Given the description of an element on the screen output the (x, y) to click on. 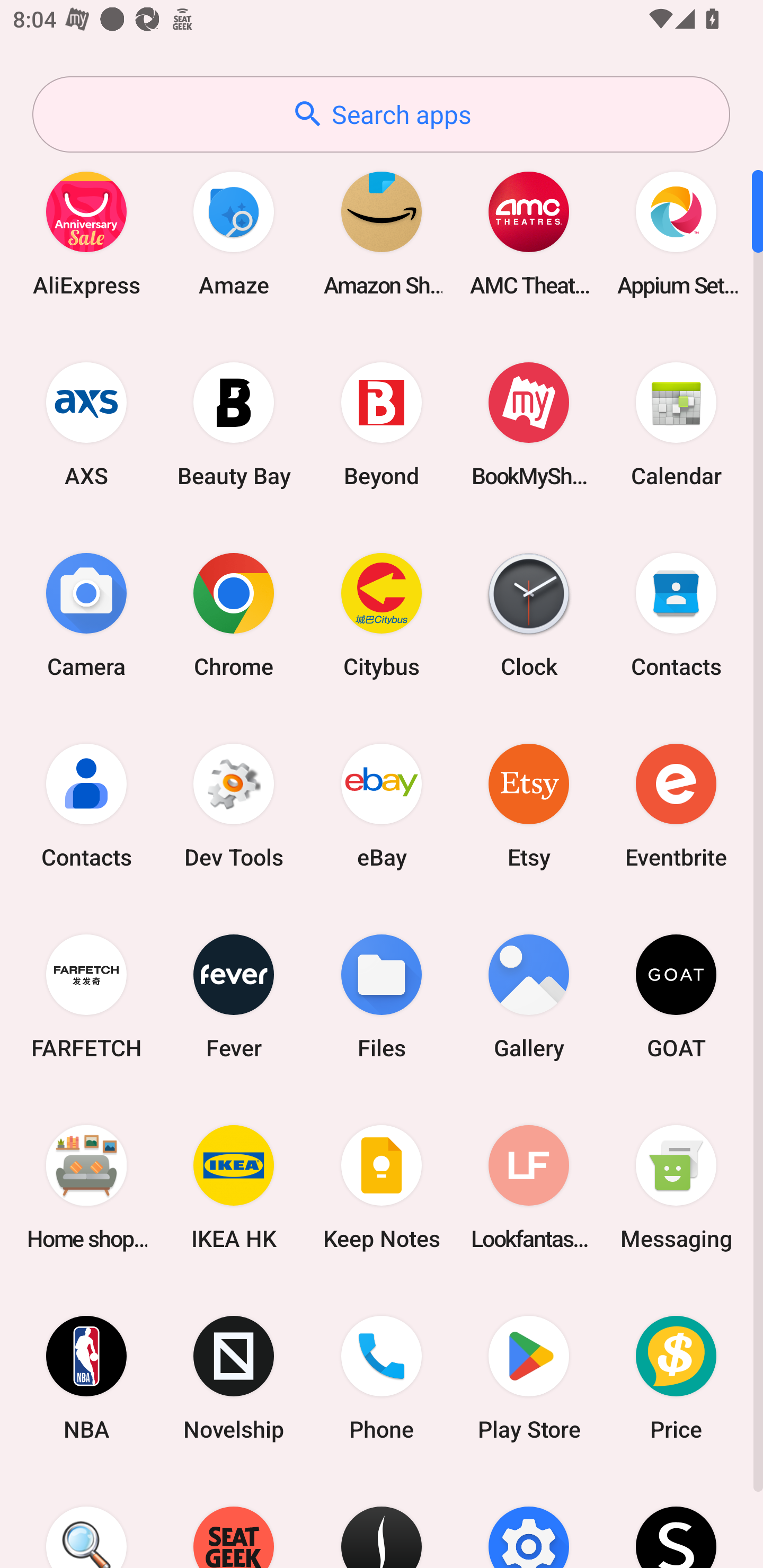
  Search apps (381, 114)
AliExpress (86, 233)
Amaze (233, 233)
Amazon Shopping (381, 233)
AMC Theatres (528, 233)
Appium Settings (676, 233)
AXS (86, 424)
Beauty Bay (233, 424)
Beyond (381, 424)
BookMyShow (528, 424)
Calendar (676, 424)
Camera (86, 614)
Chrome (233, 614)
Citybus (381, 614)
Clock (528, 614)
Contacts (676, 614)
Contacts (86, 805)
Dev Tools (233, 805)
eBay (381, 805)
Etsy (528, 805)
Eventbrite (676, 805)
FARFETCH (86, 996)
Fever (233, 996)
Files (381, 996)
Gallery (528, 996)
GOAT (676, 996)
Home shopping (86, 1186)
IKEA HK (233, 1186)
Keep Notes (381, 1186)
Lookfantastic (528, 1186)
Messaging (676, 1186)
NBA (86, 1377)
Novelship (233, 1377)
Phone (381, 1377)
Play Store (528, 1377)
Price (676, 1377)
